Given the description of an element on the screen output the (x, y) to click on. 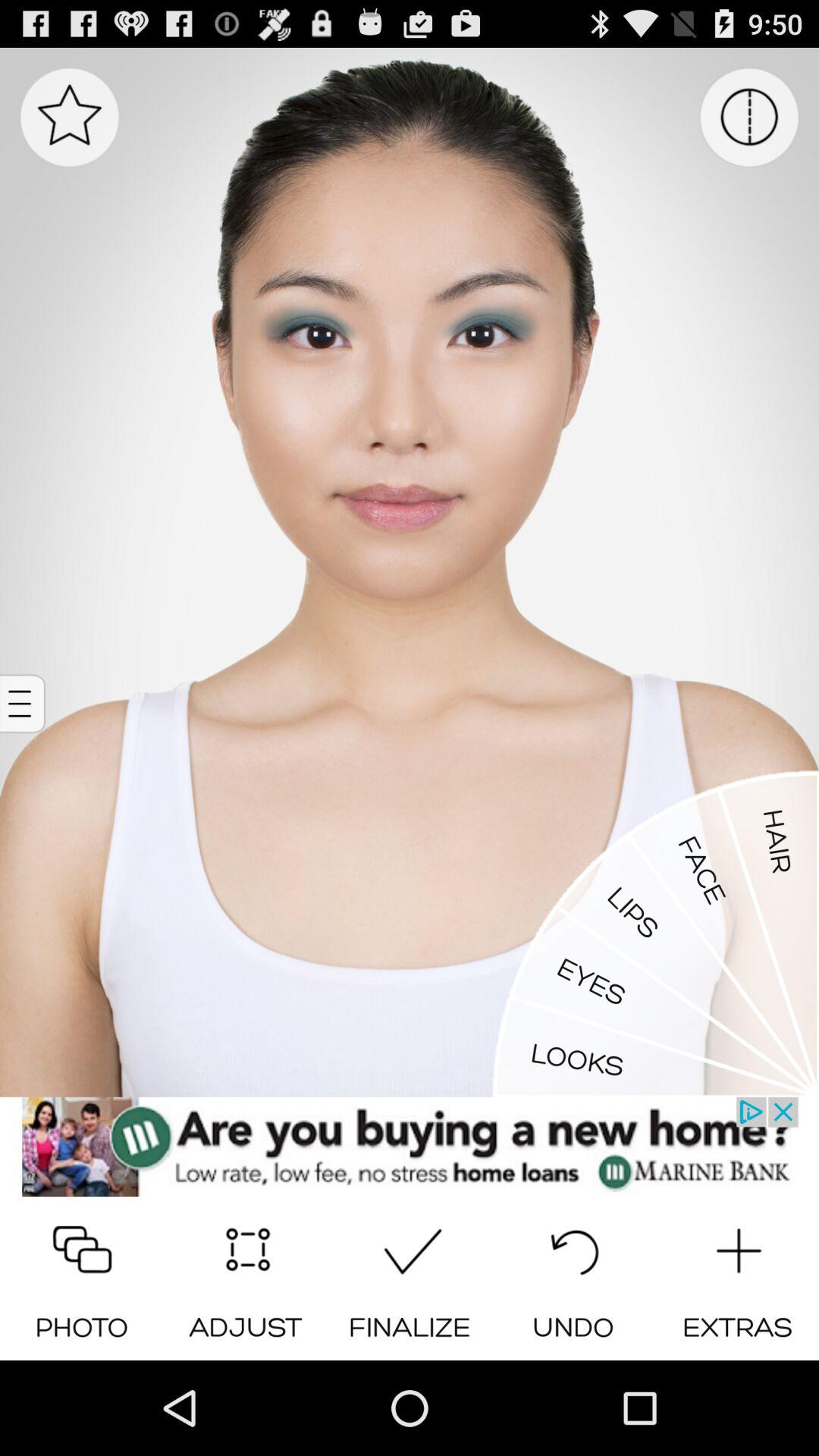
show the link of advertisement (409, 1146)
